Given the description of an element on the screen output the (x, y) to click on. 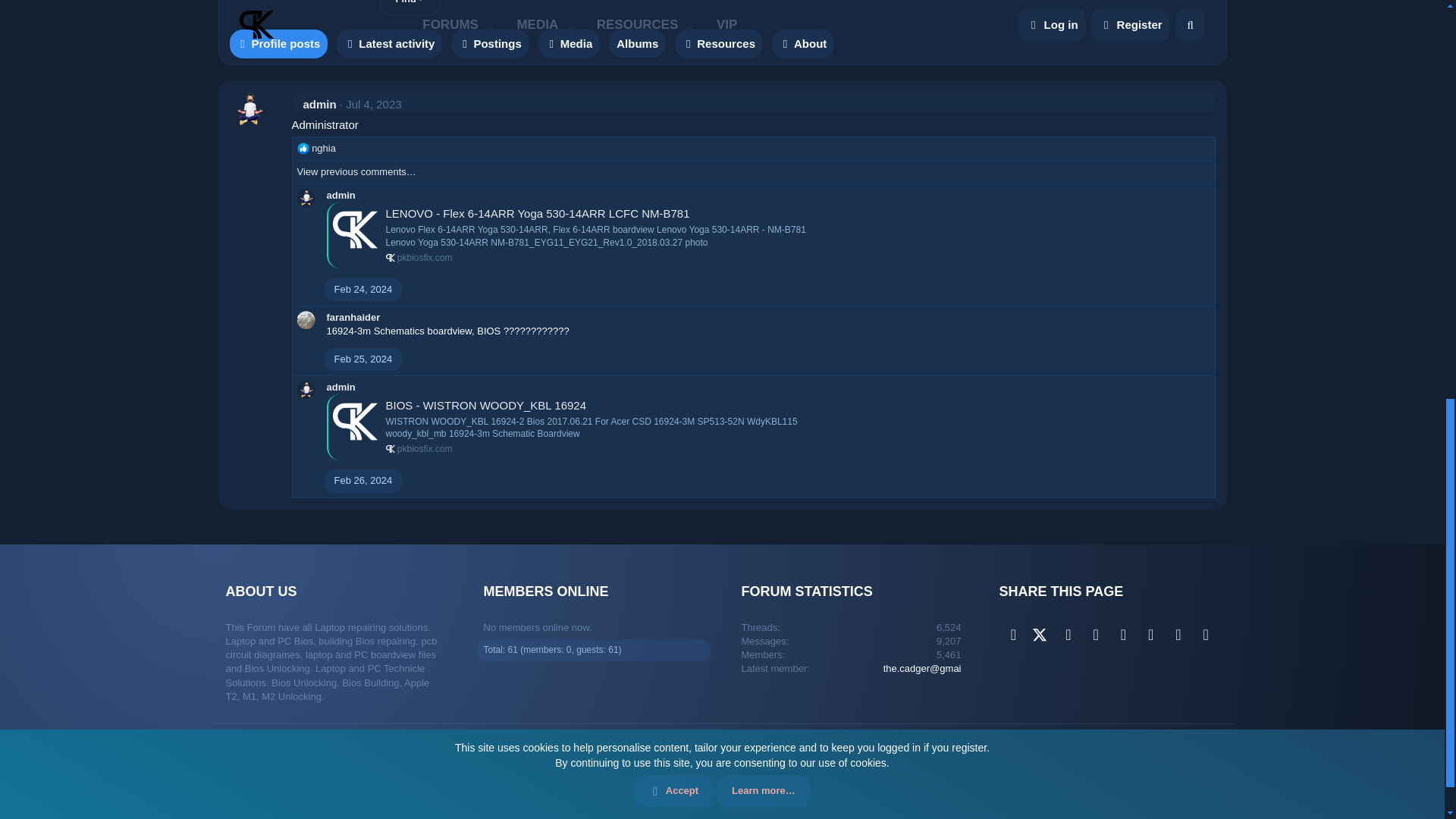
Jul 4, 2023 at 12:16 AM (373, 103)
Profile posts (277, 43)
Like (302, 148)
Find (409, 7)
Feb 25, 2024 at 7:22 PM (362, 358)
Feb 24, 2024 at 6:56 PM (362, 288)
RSS (1218, 757)
Latest activity (389, 43)
Feb 26, 2024 at 2:21 AM (362, 480)
